Given the description of an element on the screen output the (x, y) to click on. 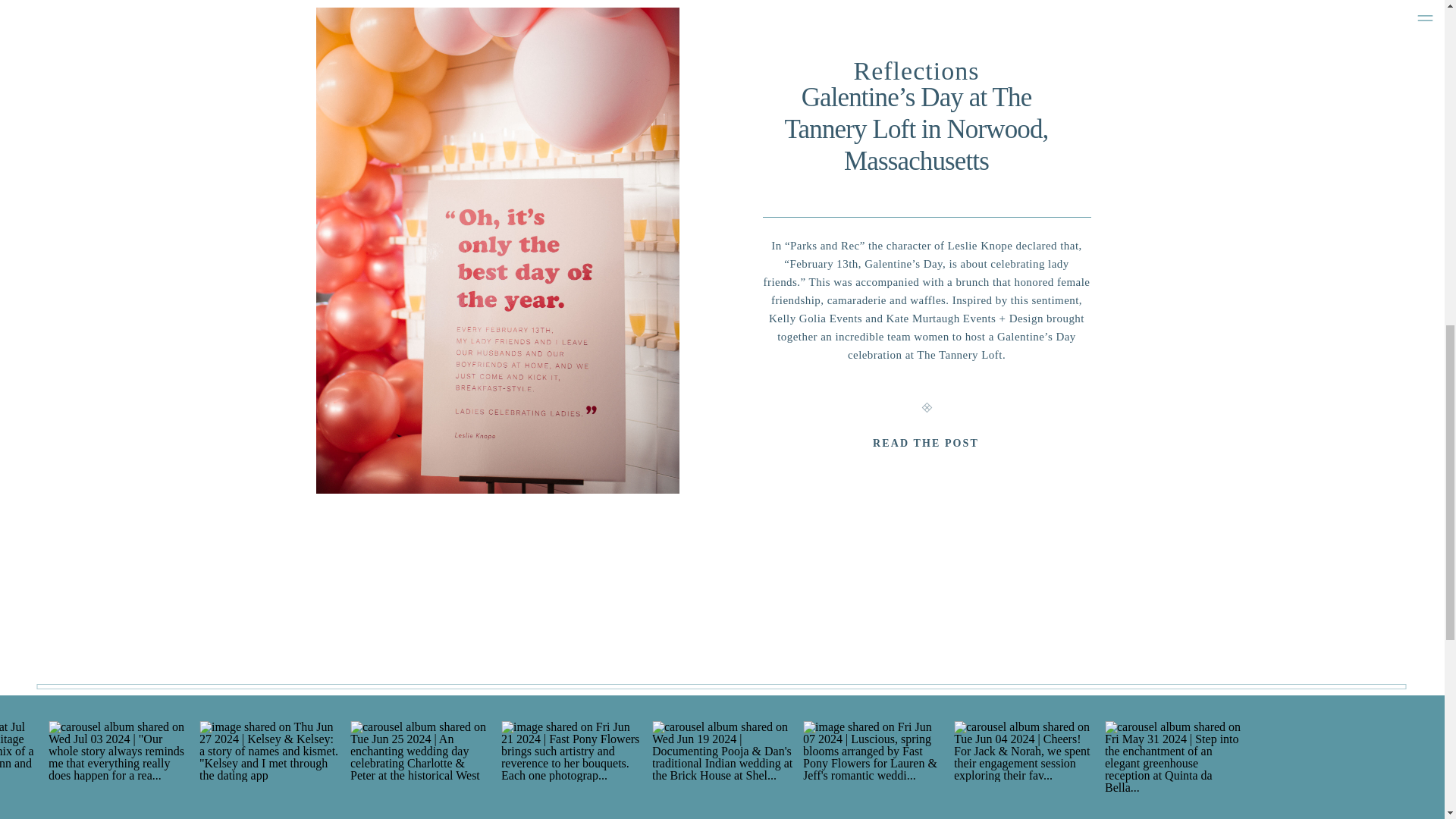
READ THE POST (926, 444)
Kelly Golia Events (814, 318)
The Tannery Loft (960, 354)
Reflections (915, 70)
